Given the description of an element on the screen output the (x, y) to click on. 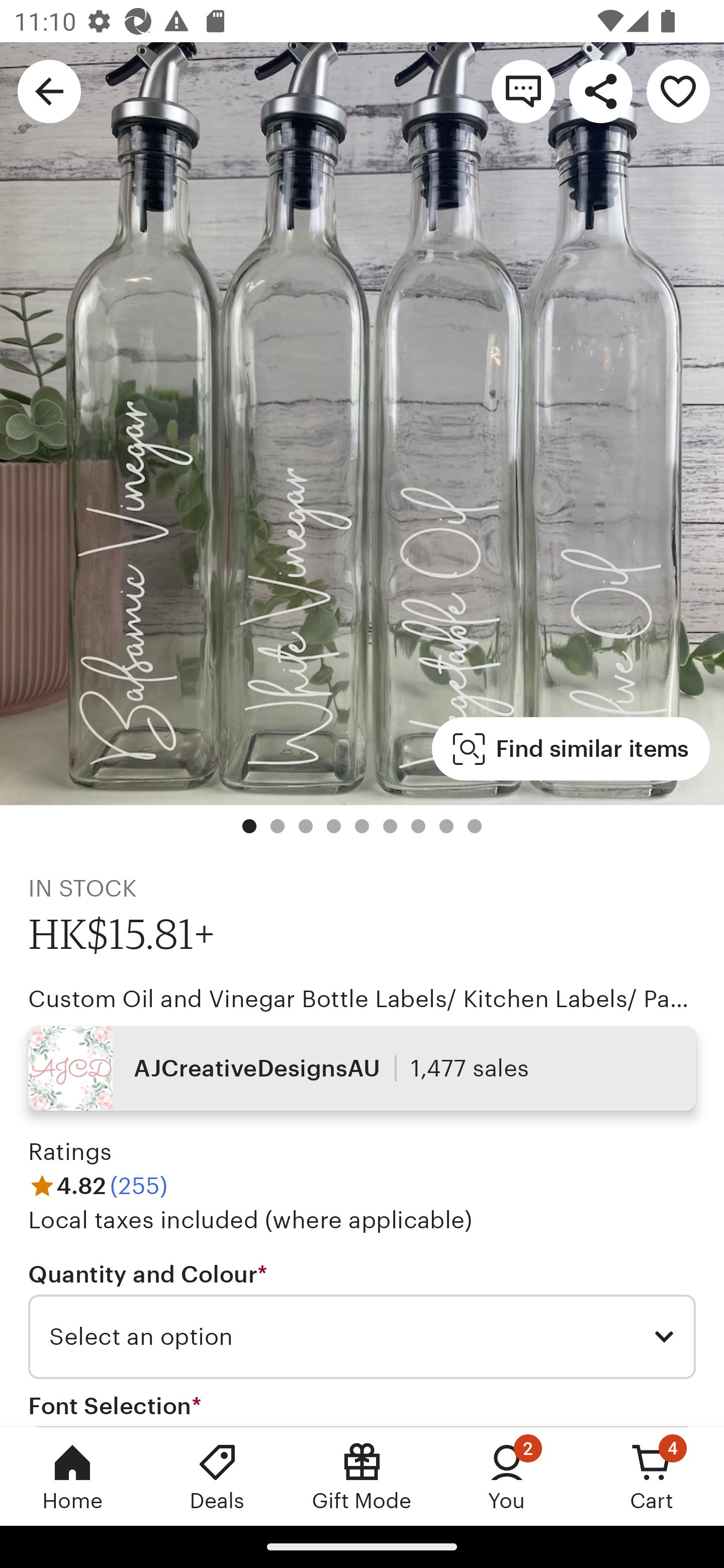
Navigate up (49, 90)
Contact shop (523, 90)
Share (600, 90)
Find similar items (571, 748)
AJCreativeDesignsAU 1,477 sales (361, 1067)
Ratings (70, 1151)
4.82 (255) (97, 1185)
Quantity and Colour * Required Select an option (361, 1319)
Select an option (361, 1336)
Font Selection * Required Select an option (361, 1409)
Deals (216, 1475)
Gift Mode (361, 1475)
You, 2 new notifications You (506, 1475)
Cart, 4 new notifications Cart (651, 1475)
